Given the description of an element on the screen output the (x, y) to click on. 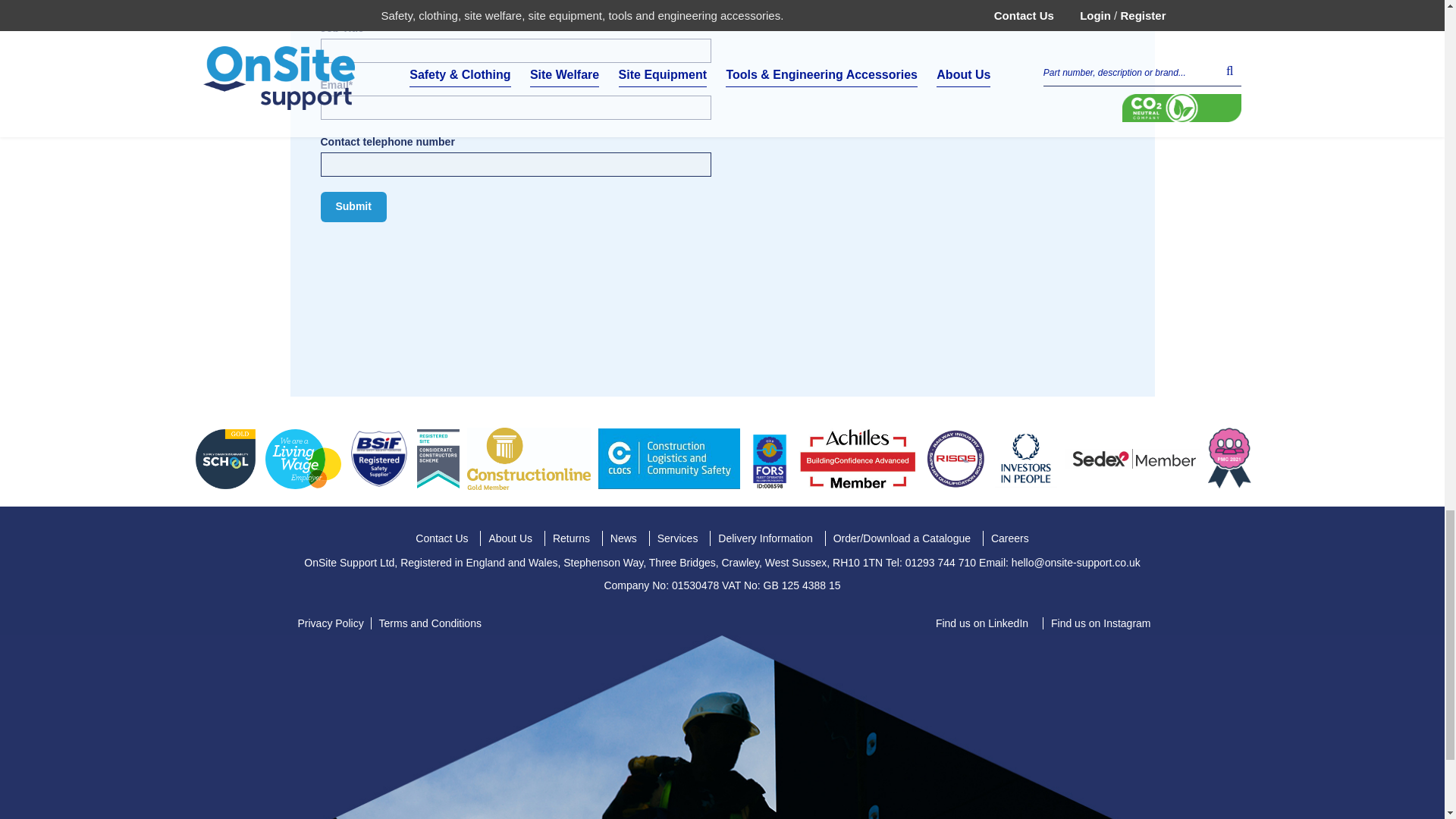
Submit (352, 206)
